Given the description of an element on the screen output the (x, y) to click on. 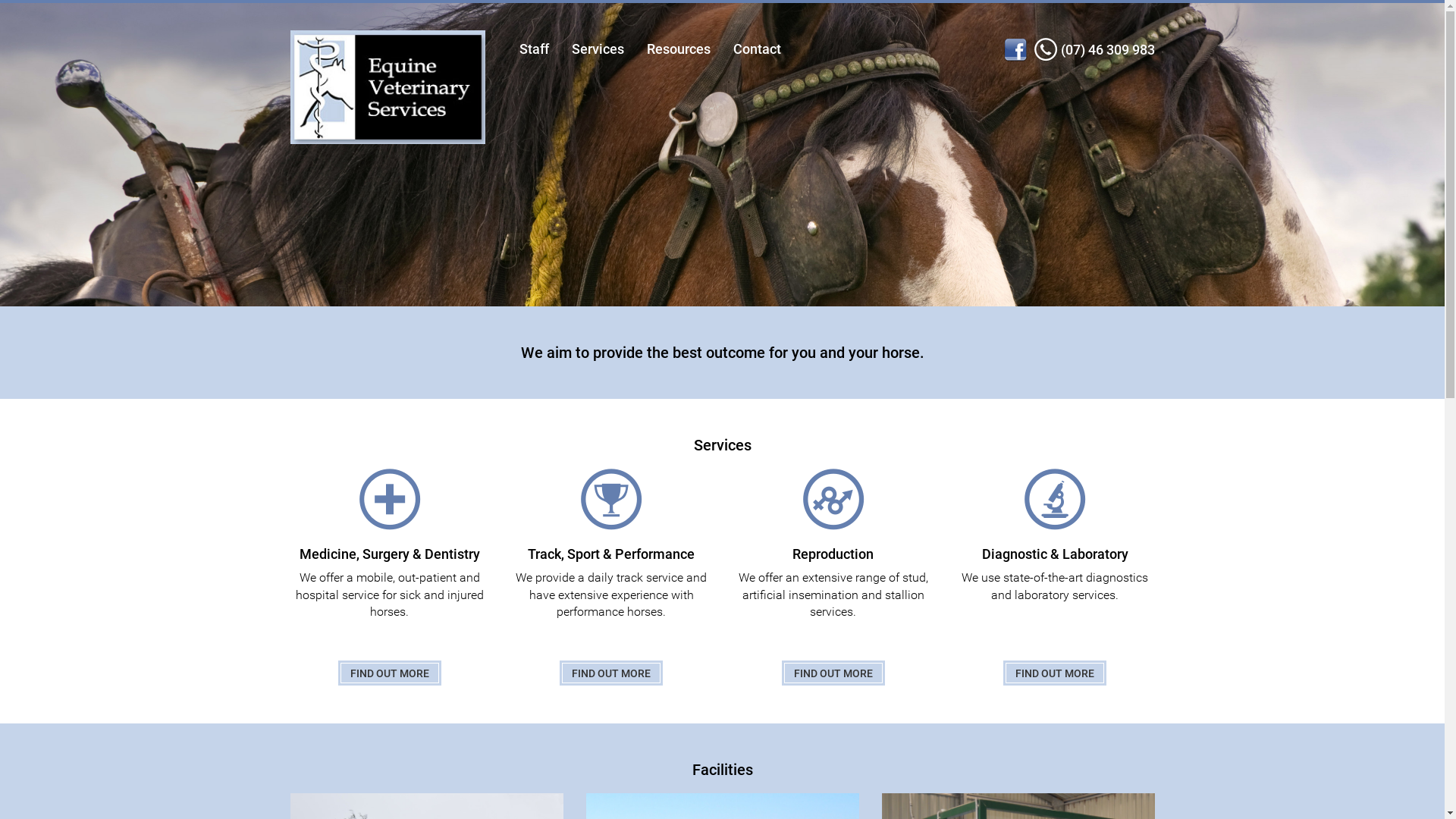
Services Element type: text (596, 49)
(07) 46 309 983 Element type: text (1107, 49)
Track, Sport & Performance Element type: text (611, 514)
Diagnostic & Laboratory Element type: text (1054, 514)
FIND OUT MORE Element type: text (1054, 672)
Contact Element type: text (756, 49)
Reproduction Element type: text (833, 514)
Staff Element type: text (534, 49)
FIND OUT MORE Element type: text (610, 672)
FIND OUT MORE Element type: text (832, 672)
Resources Element type: text (678, 49)
FIND OUT MORE Element type: text (389, 672)
Equine Veterinary Services Element type: text (386, 88)
Medicine, Surgery & Dentistry Element type: text (389, 514)
